Given the description of an element on the screen output the (x, y) to click on. 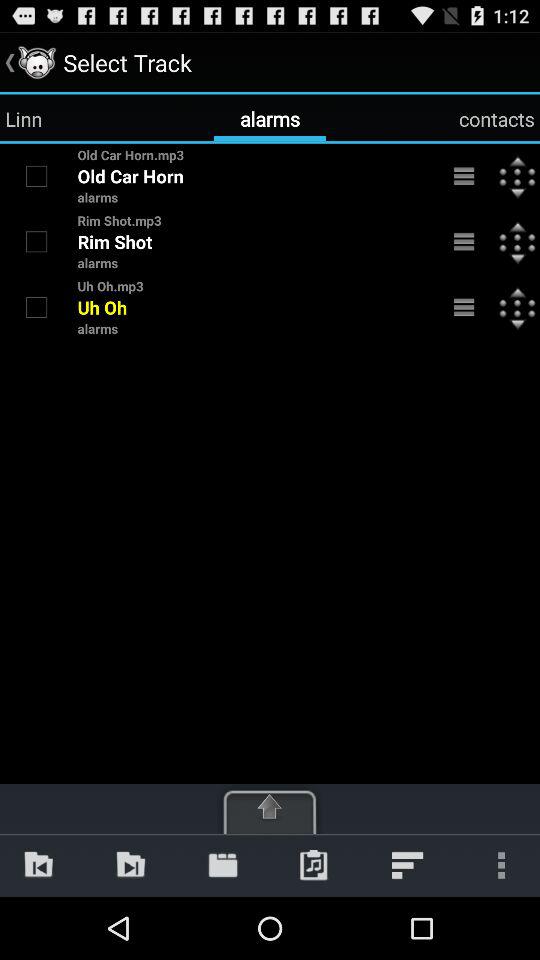
more options (463, 175)
